Given the description of an element on the screen output the (x, y) to click on. 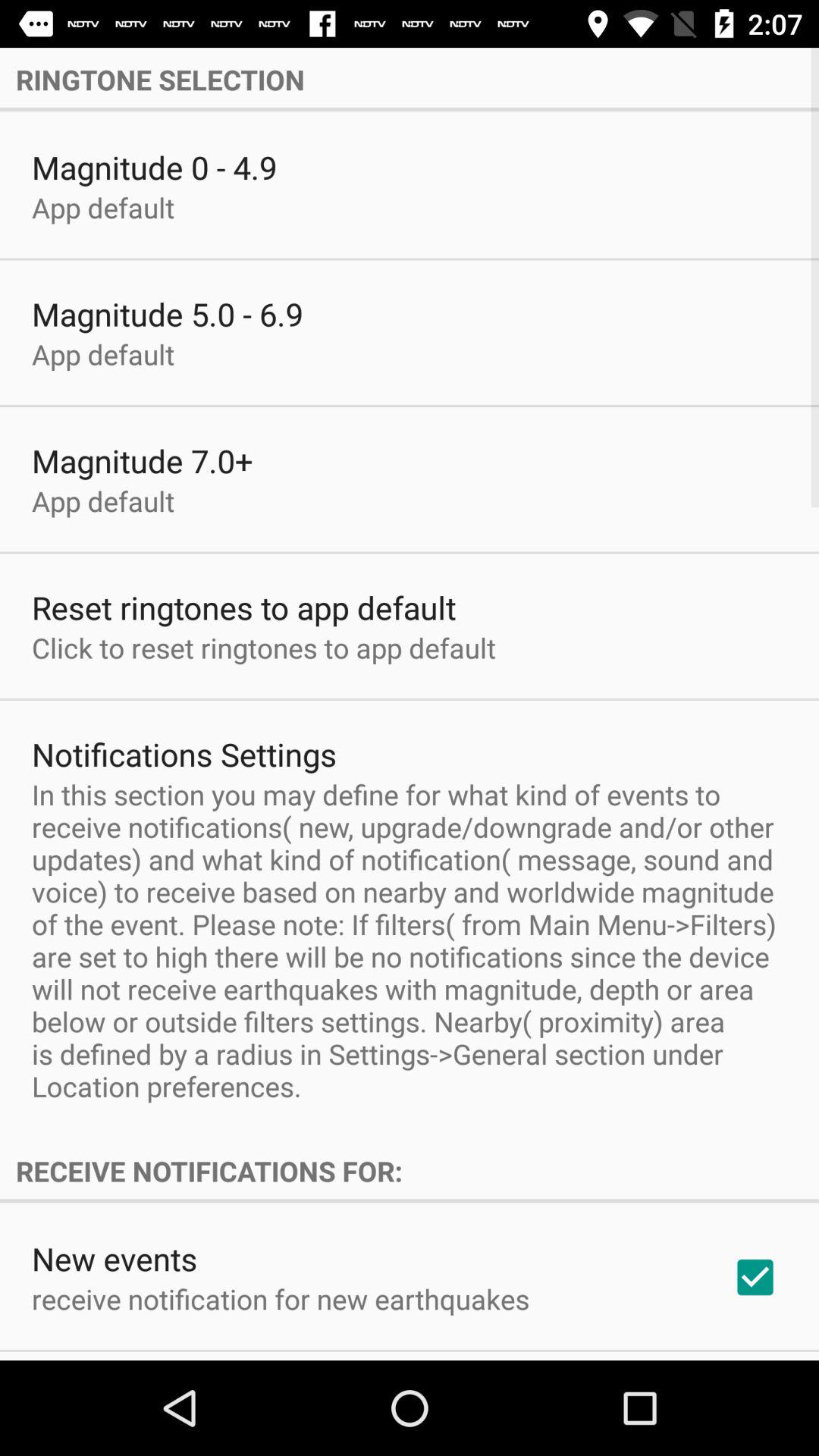
select the ringtone selection app (409, 79)
